Given the description of an element on the screen output the (x, y) to click on. 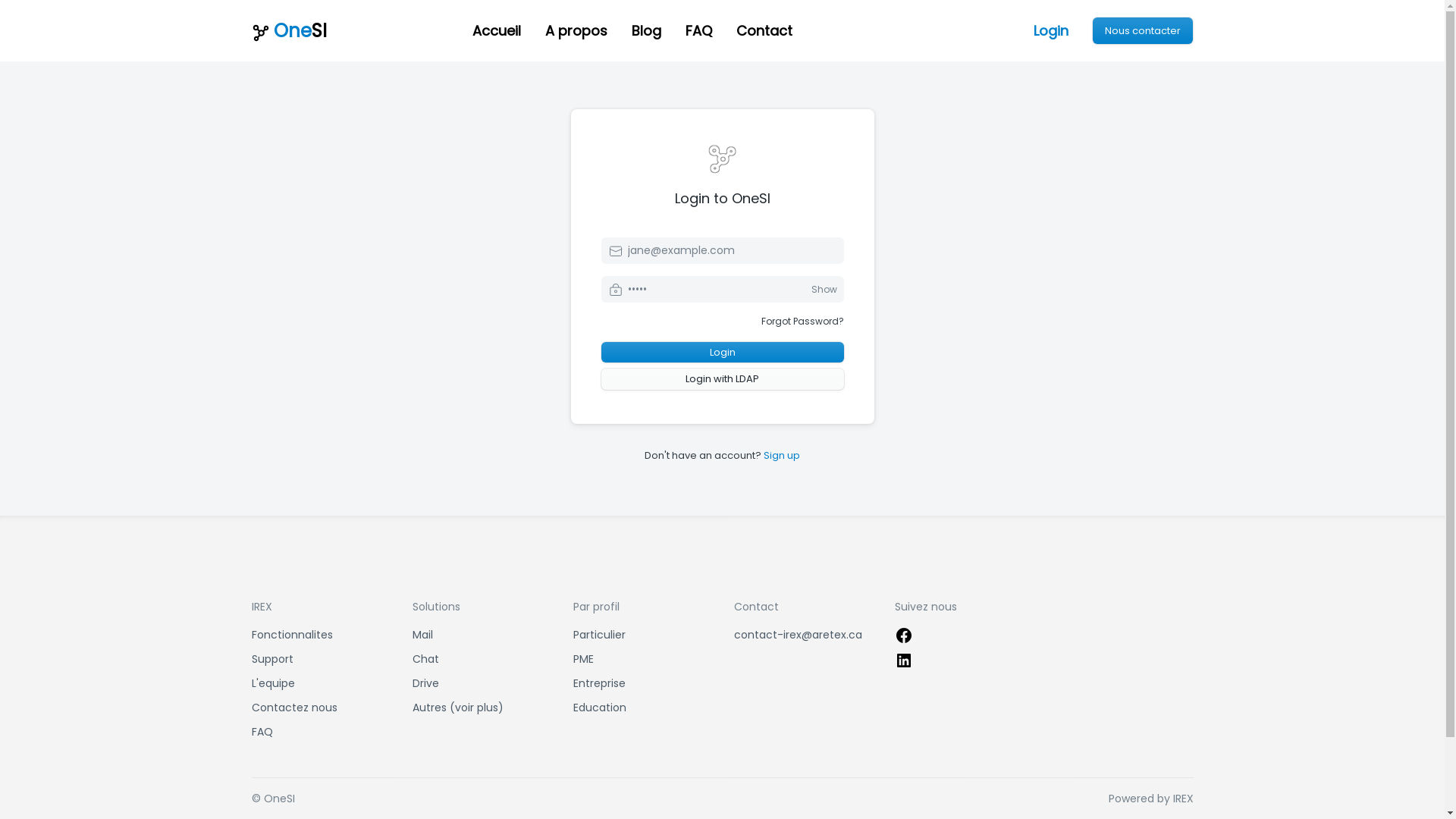
A propos Element type: text (576, 30)
Forgot Password? Element type: text (802, 320)
FAQ Element type: text (698, 30)
Support Element type: text (272, 658)
Contact Element type: text (764, 30)
Mail Element type: text (422, 634)
Entreprise Element type: text (599, 682)
Login Element type: text (721, 352)
Blog Element type: text (646, 30)
Sign up Element type: text (781, 455)
Autres (voir plus) Element type: text (457, 707)
L'equipe Element type: text (272, 682)
Login Element type: text (1050, 30)
Drive Element type: text (425, 682)
Powered by IREX Element type: text (1150, 798)
PME Element type: text (583, 658)
Fonctionnalites Element type: text (291, 634)
Nous contacter Element type: text (1142, 30)
Login with LDAP Element type: text (721, 378)
Contactez nous Element type: text (294, 707)
Particulier Element type: text (599, 634)
Chat Element type: text (425, 658)
contact-irex@aretex.ca Element type: text (798, 634)
OneSI Element type: text (349, 30)
Education Element type: text (599, 707)
Accueil Element type: text (496, 30)
FAQ Element type: text (262, 731)
